Given the description of an element on the screen output the (x, y) to click on. 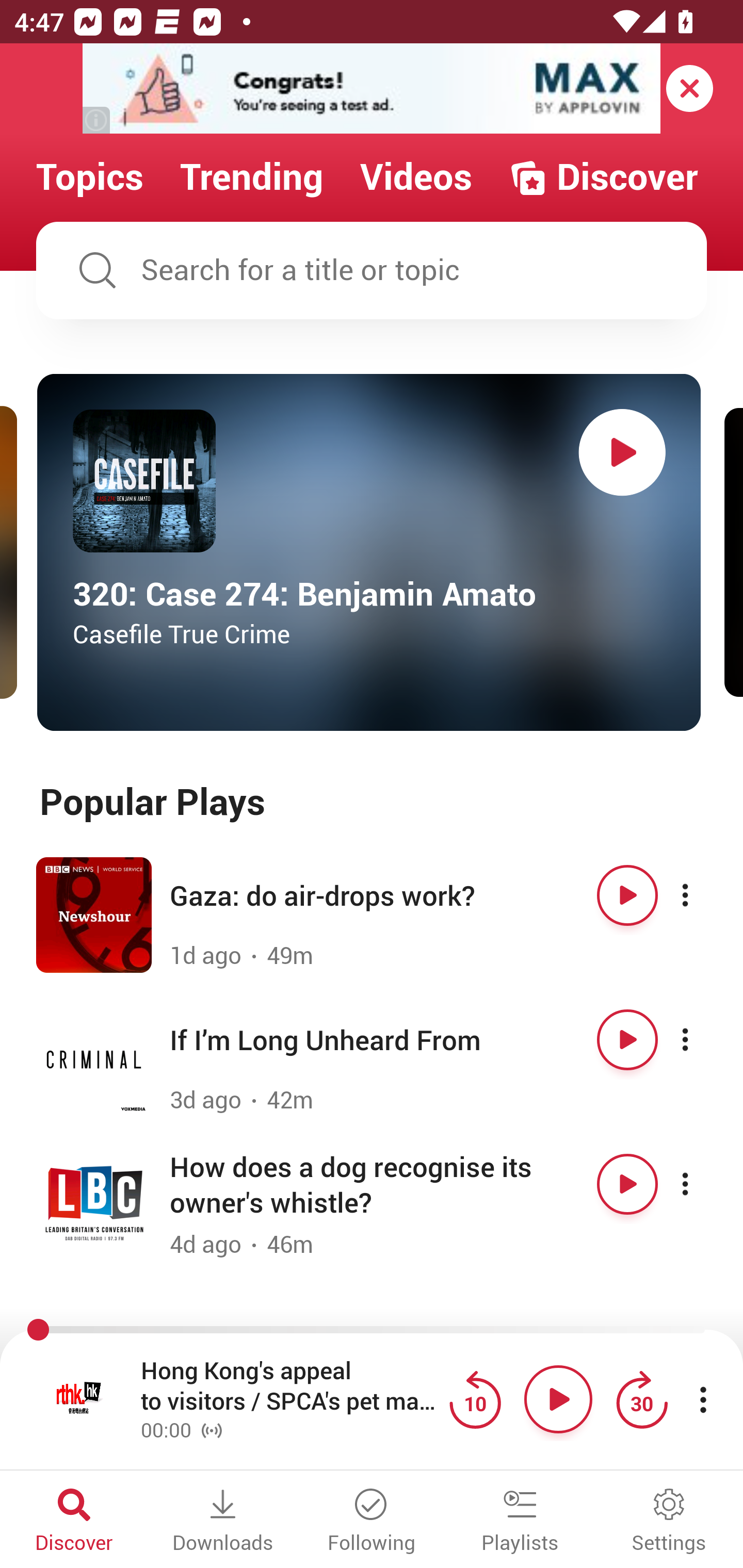
app-monetization (371, 88)
(i) (96, 119)
Topics (90, 177)
Trending (251, 177)
Videos (415, 177)
Discover (603, 177)
Search for a title or topic (371, 270)
Play button (621, 452)
Play button (627, 895)
More options (703, 895)
Play button (627, 1039)
More options (703, 1039)
Play button (627, 1184)
More options (703, 1184)
Recommended for You (371, 1331)
Open fullscreen player (79, 1399)
More player controls (703, 1399)
Play button (558, 1398)
Jump back (475, 1399)
Jump forward (641, 1399)
Discover (74, 1521)
Downloads (222, 1521)
Following (371, 1521)
Playlists (519, 1521)
Settings (668, 1521)
